Given the description of an element on the screen output the (x, y) to click on. 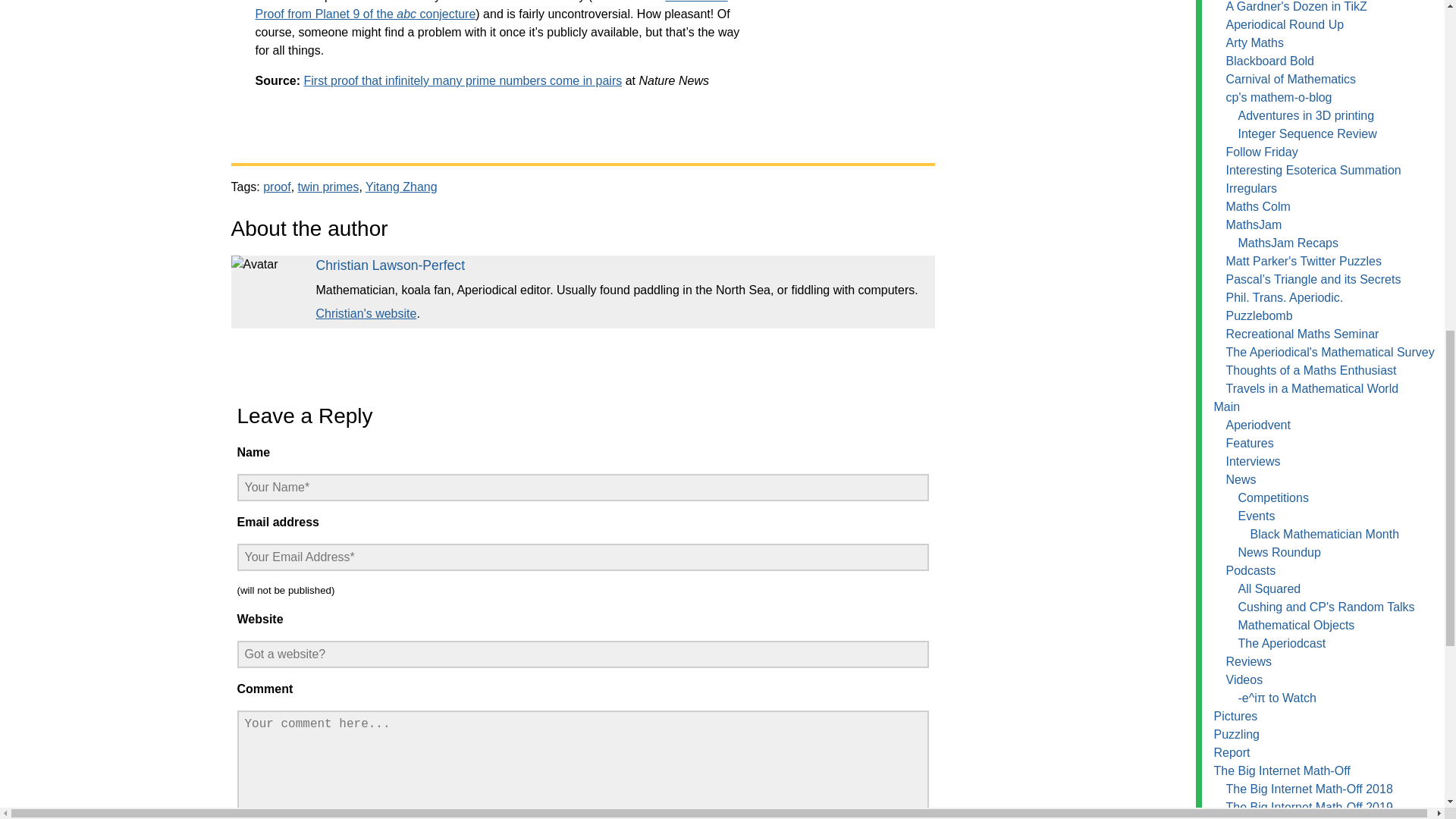
Christian's website (365, 313)
A Gardner's Dozen in TikZ (1296, 6)
Blackboard Bold (1269, 60)
Christian Lawson-Perfect (389, 264)
Arty Maths (1253, 42)
MathsJam (1253, 224)
cp's mathem-o-blog (1278, 97)
Adventures in 3D printing (1305, 115)
proof (276, 186)
Yitang Zhang (401, 186)
Carnival of Mathematics (1290, 78)
abc: the story so far (490, 10)
Integer Sequence Review (1306, 133)
Christian's posts (389, 264)
Aperiodical Round Up (1284, 24)
